Given the description of an element on the screen output the (x, y) to click on. 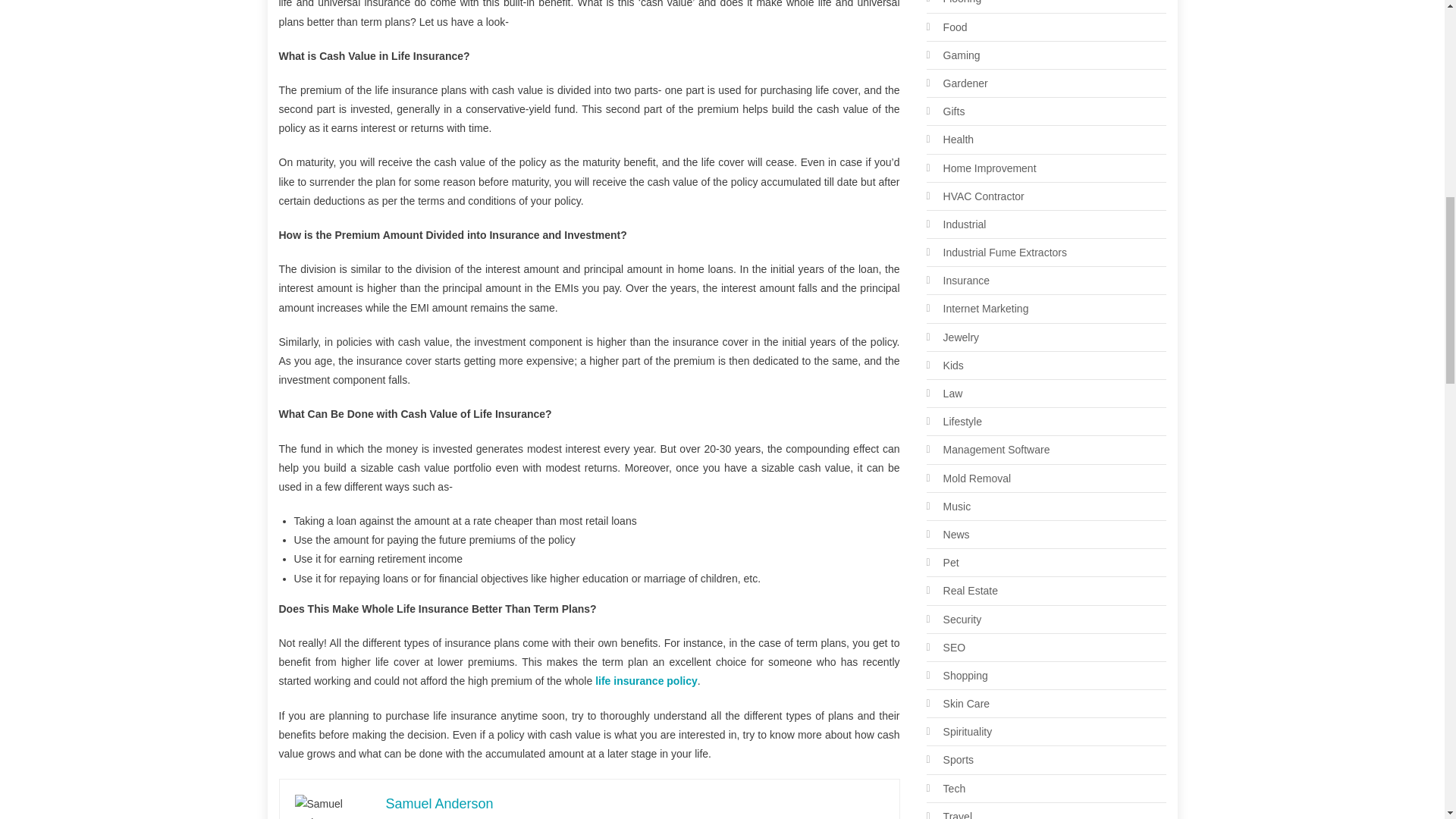
Samuel Anderson (439, 803)
life insurance policy (646, 680)
